Given the description of an element on the screen output the (x, y) to click on. 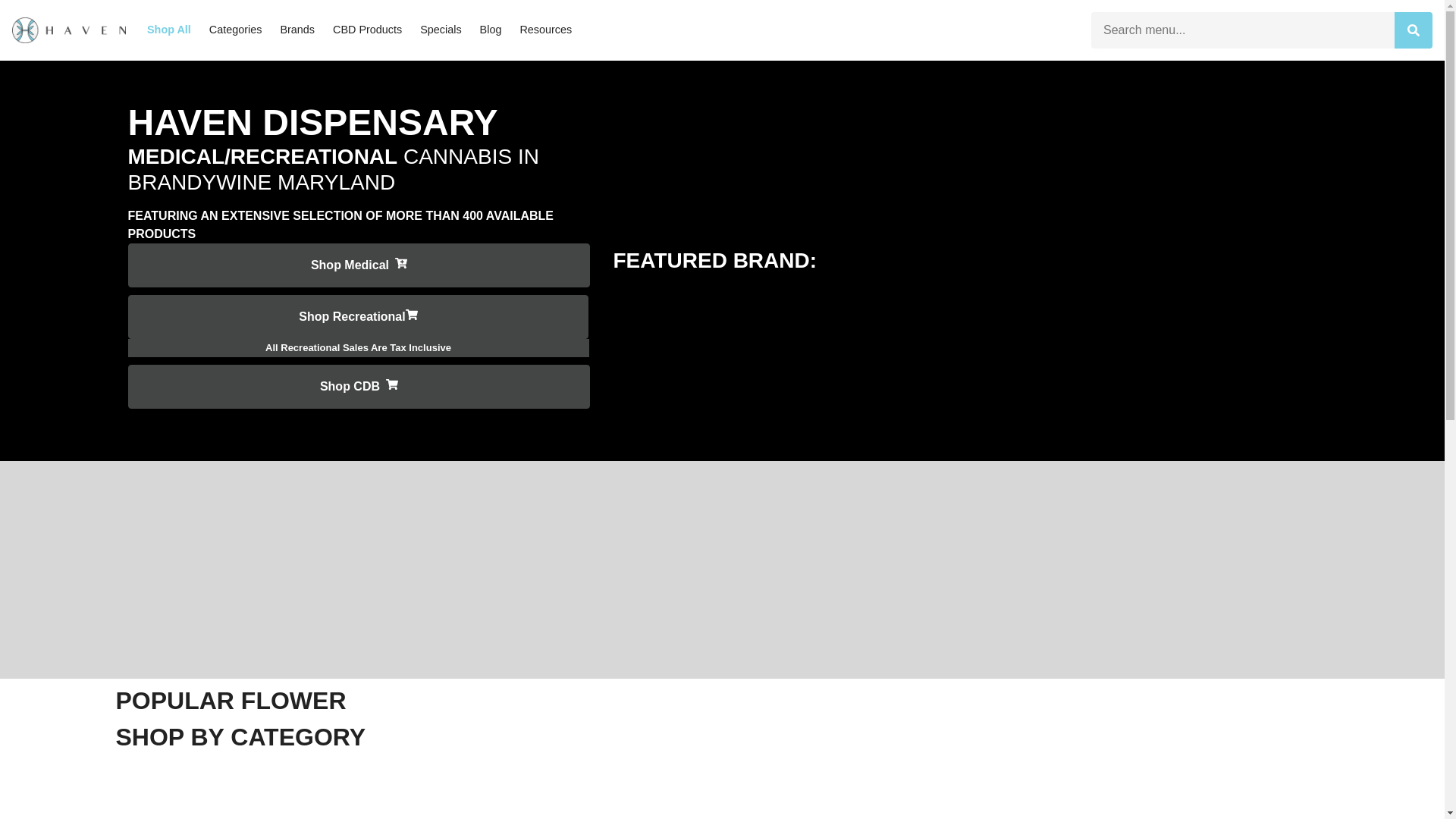
Brands (296, 30)
Shop Menu (358, 386)
Shop All (169, 30)
Categories (235, 30)
Shop Menu (358, 316)
Shop Menu (358, 265)
